Given the description of an element on the screen output the (x, y) to click on. 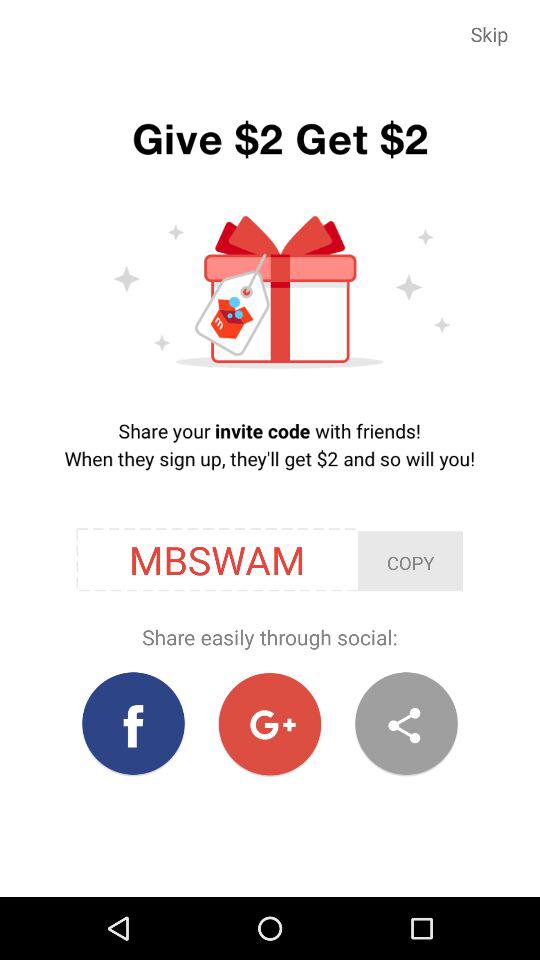
tap skip item (489, 34)
